Given the description of an element on the screen output the (x, y) to click on. 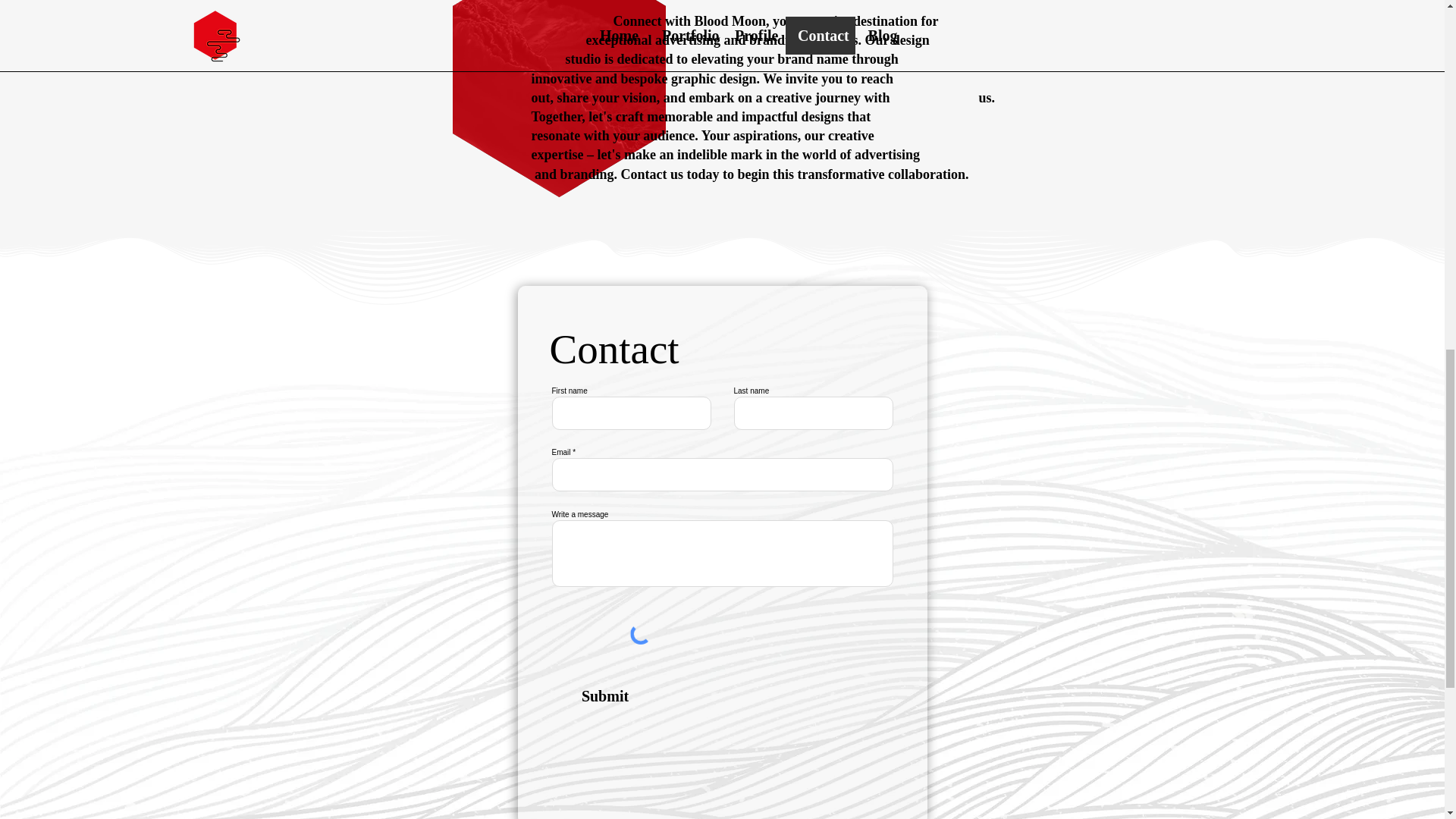
Submit (604, 695)
